Given the description of an element on the screen output the (x, y) to click on. 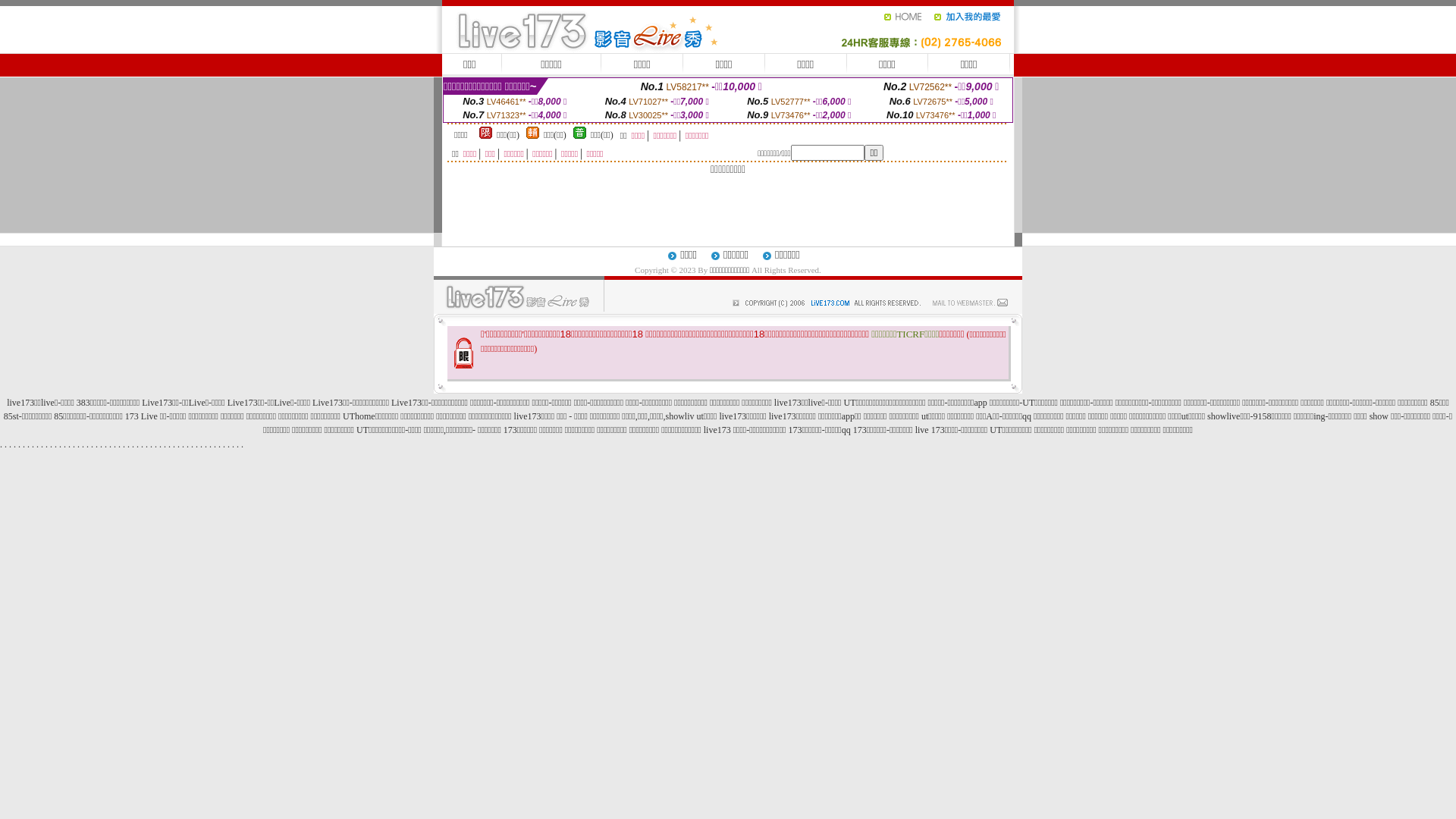
. Element type: text (128, 444)
. Element type: text (183, 444)
. Element type: text (105, 444)
. Element type: text (192, 444)
. Element type: text (201, 444)
. Element type: text (1, 444)
. Element type: text (64, 444)
. Element type: text (187, 444)
. Element type: text (233, 444)
. Element type: text (73, 444)
. Element type: text (5, 444)
. Element type: text (101, 444)
. Element type: text (237, 444)
. Element type: text (23, 444)
. Element type: text (10, 444)
. Element type: text (223, 444)
. Element type: text (78, 444)
. Element type: text (196, 444)
. Element type: text (37, 444)
. Element type: text (219, 444)
. Element type: text (205, 444)
. Element type: text (87, 444)
. Element type: text (32, 444)
. Element type: text (146, 444)
. Element type: text (96, 444)
. Element type: text (210, 444)
. Element type: text (82, 444)
. Element type: text (137, 444)
. Element type: text (160, 444)
. Element type: text (119, 444)
. Element type: text (164, 444)
. Element type: text (14, 444)
. Element type: text (178, 444)
. Element type: text (214, 444)
. Element type: text (151, 444)
. Element type: text (110, 444)
. Element type: text (242, 444)
. Element type: text (28, 444)
. Element type: text (55, 444)
. Element type: text (51, 444)
. Element type: text (92, 444)
. Element type: text (132, 444)
. Element type: text (142, 444)
. Element type: text (228, 444)
. Element type: text (123, 444)
. Element type: text (169, 444)
. Element type: text (60, 444)
. Element type: text (69, 444)
. Element type: text (155, 444)
. Element type: text (19, 444)
. Element type: text (173, 444)
. Element type: text (114, 444)
. Element type: text (41, 444)
. Element type: text (46, 444)
